Given the description of an element on the screen output the (x, y) to click on. 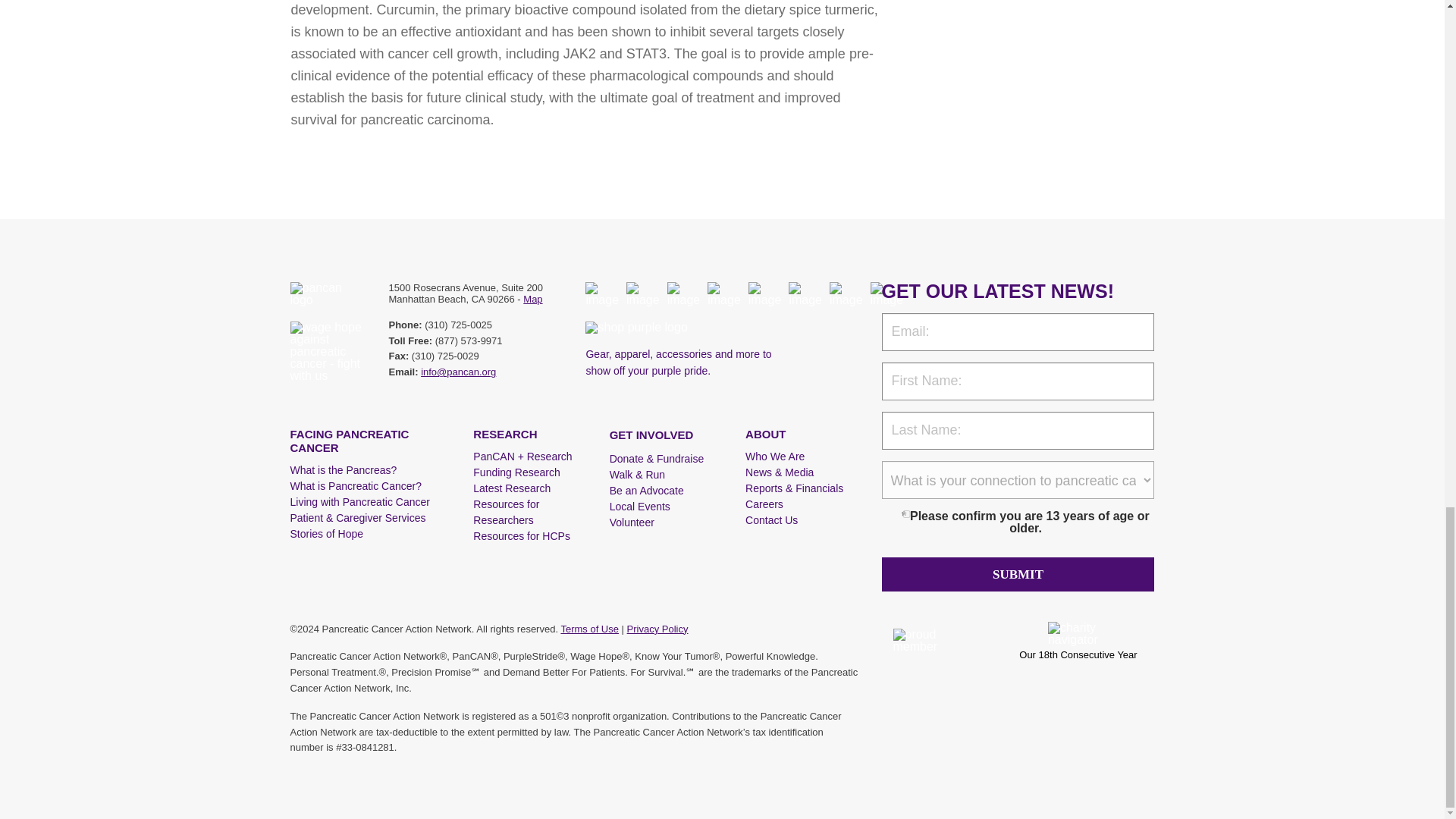
Follow us on Facebook (601, 293)
Yes (906, 513)
Follow us on YouTube (846, 293)
Follow us on TikTok (683, 293)
wpcc (936, 640)
Follow us on Twitter (764, 293)
Follow us on LinkedIn (805, 293)
View More Social Networks (887, 293)
Charity Navigator (1077, 640)
Follow us on Threads (724, 293)
Follow us on Instagram (642, 293)
